Given the description of an element on the screen output the (x, y) to click on. 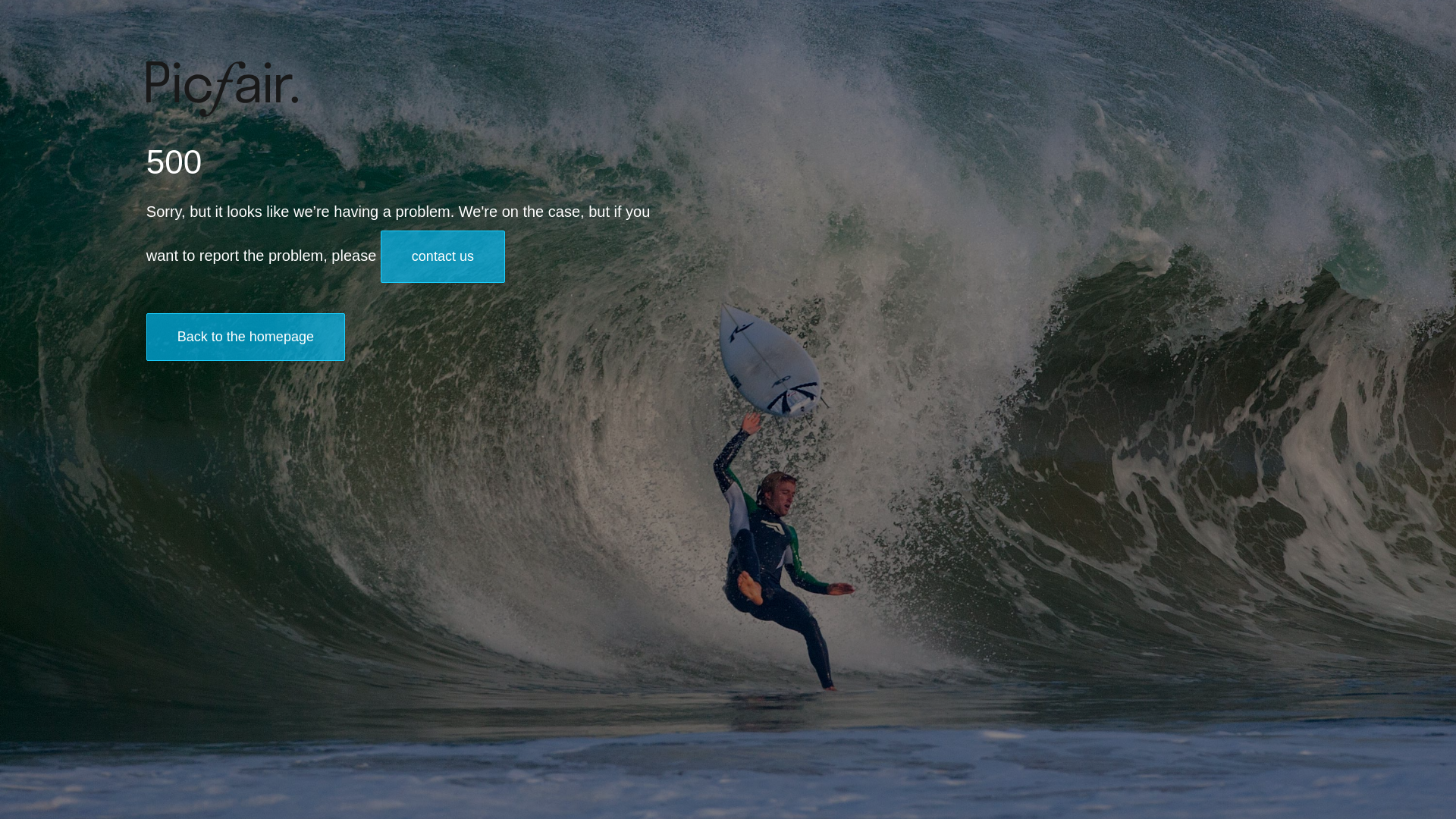
Back to the homepage (246, 336)
contact us (442, 256)
